Given the description of an element on the screen output the (x, y) to click on. 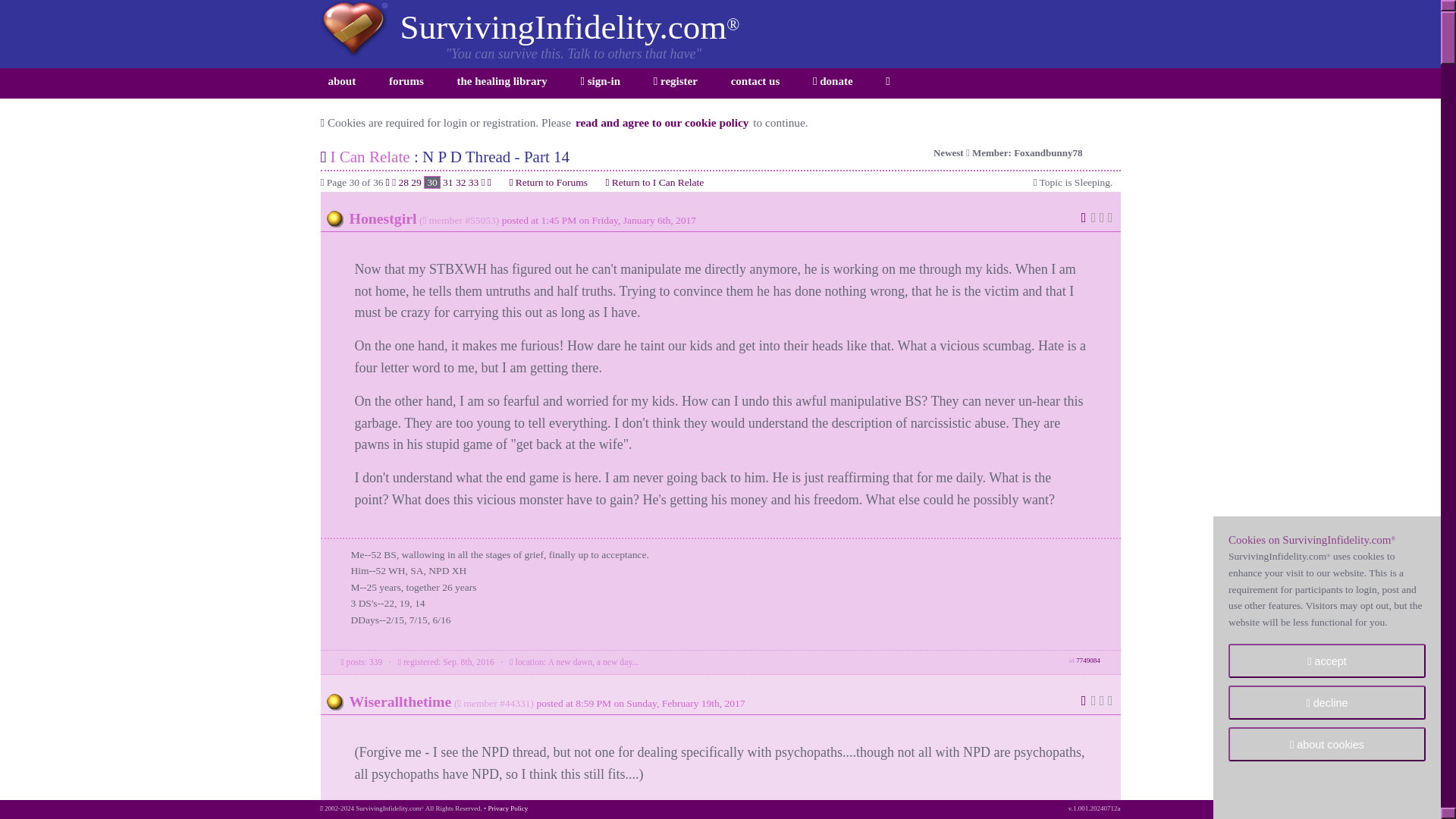
read and agree to our cookie policy (662, 122)
29 (416, 182)
donate (832, 82)
about (341, 82)
forums (405, 82)
the healing library (501, 82)
28 (403, 182)
sign-in (599, 82)
I Can Relate (369, 157)
register (675, 82)
